Given the description of an element on the screen output the (x, y) to click on. 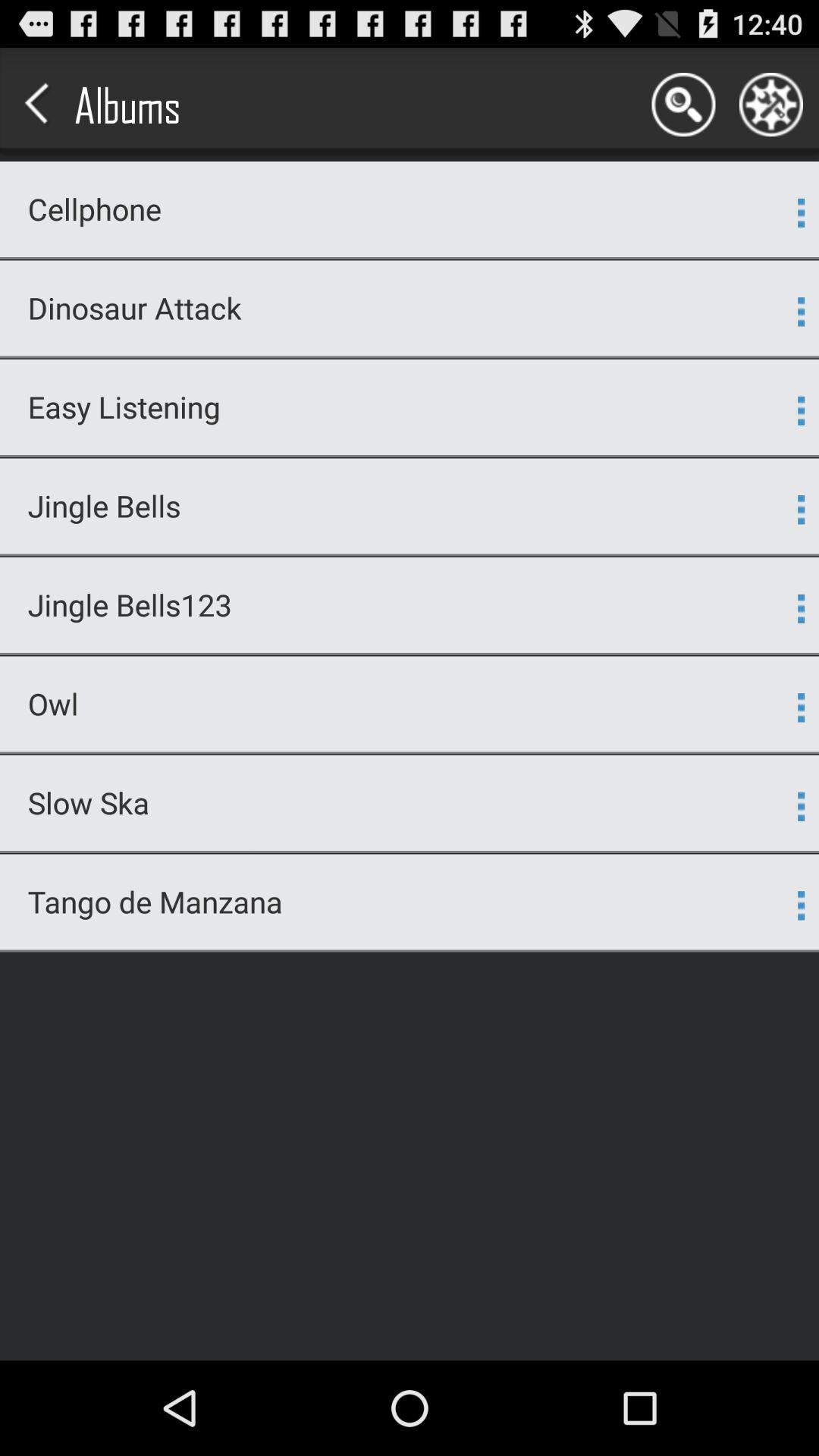
swipe to the jingle bells123 (400, 604)
